Given the description of an element on the screen output the (x, y) to click on. 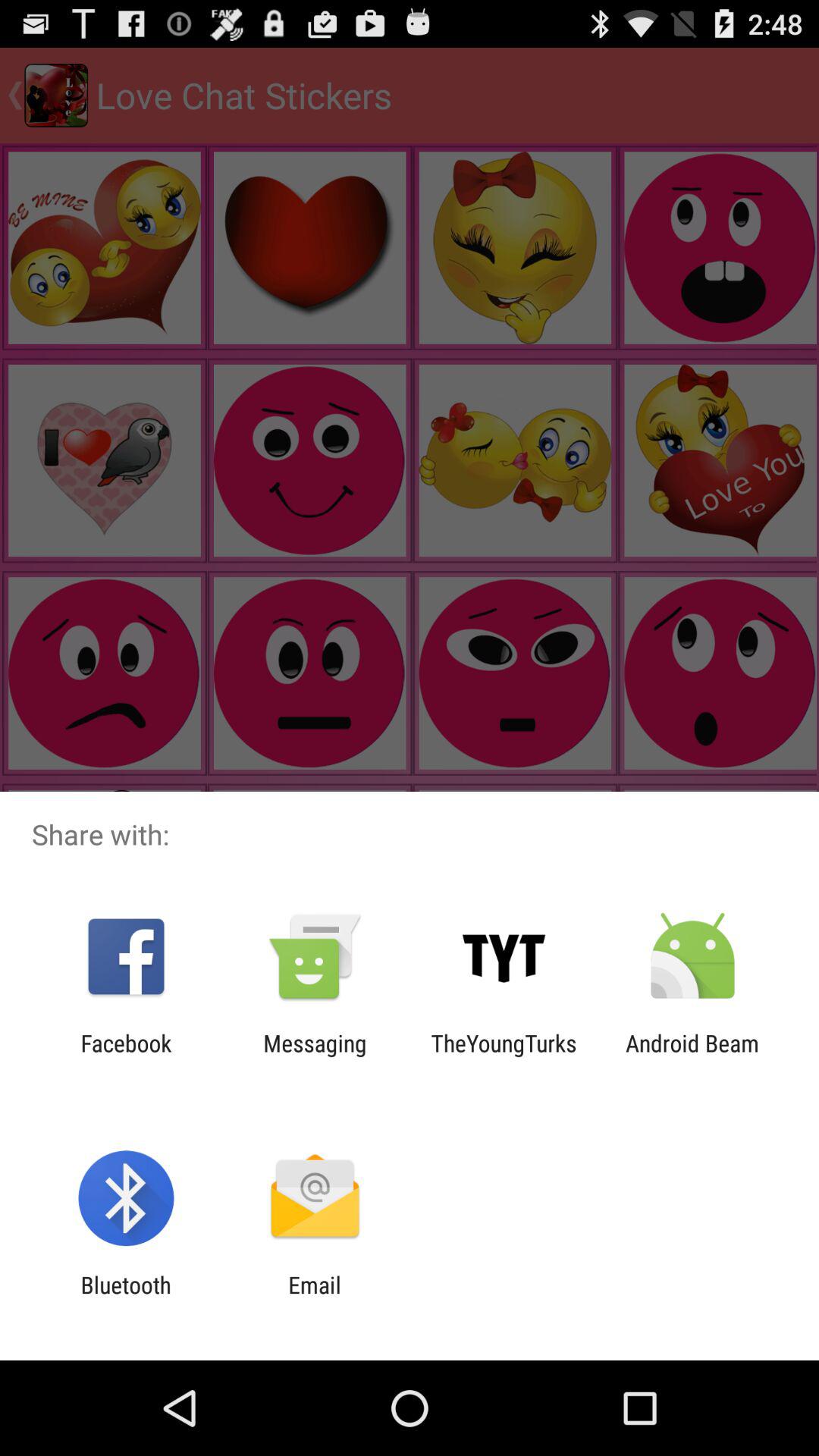
turn off the bluetooth icon (125, 1298)
